Given the description of an element on the screen output the (x, y) to click on. 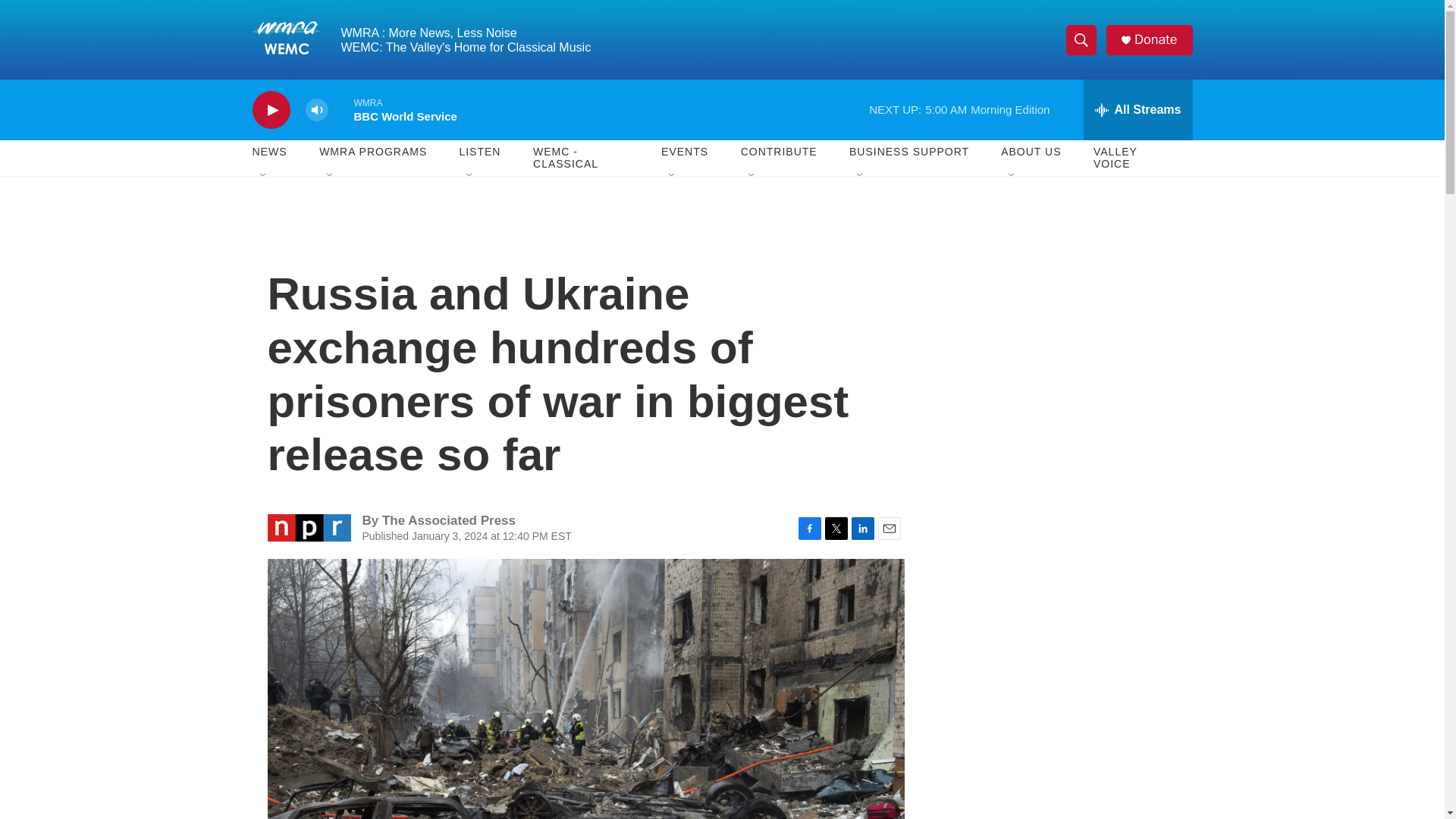
3rd party ad content (1062, 316)
